Given the description of an element on the screen output the (x, y) to click on. 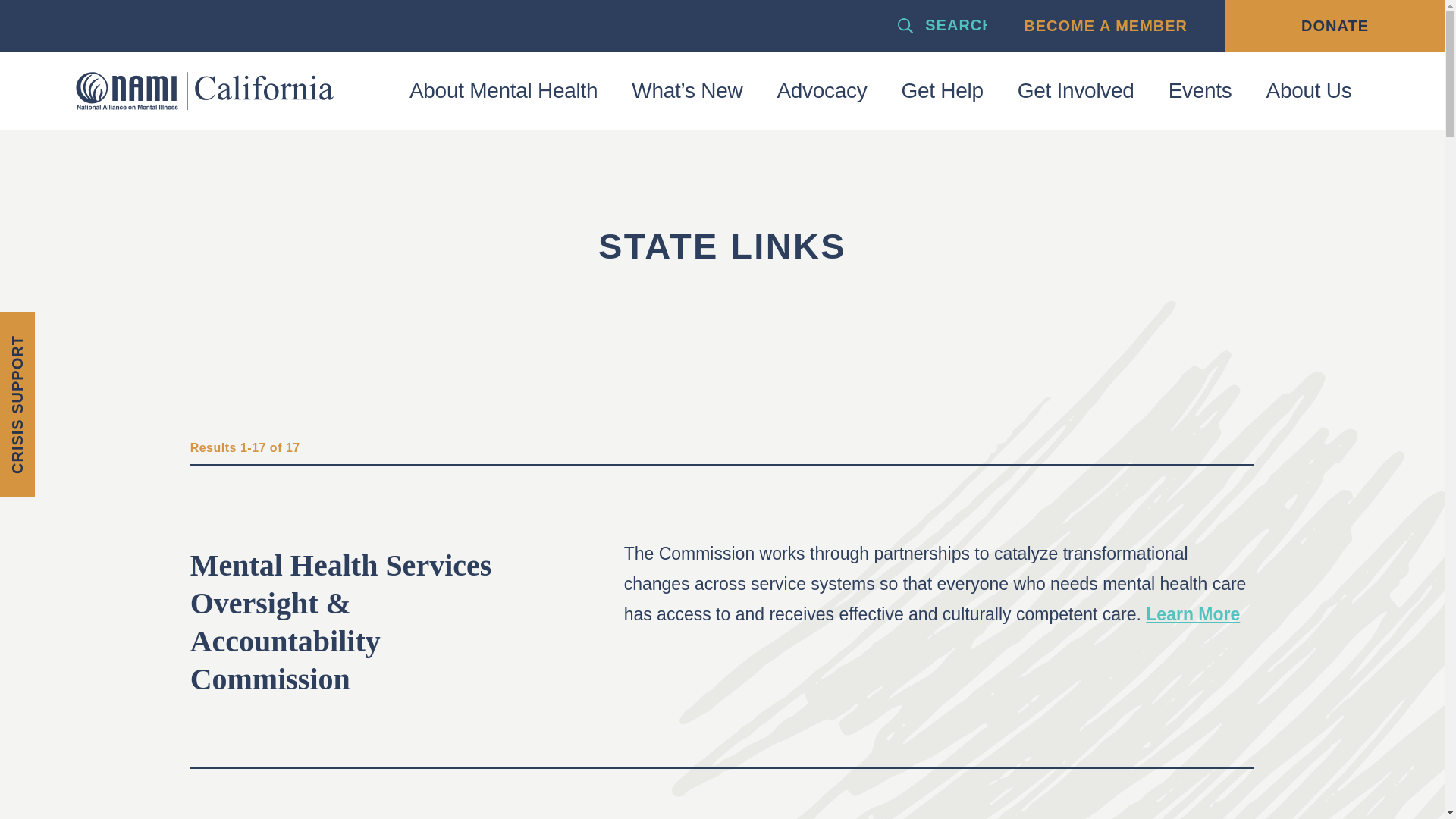
About Us (1308, 90)
Get Help (941, 90)
Site Logo (204, 91)
About Mental Health (502, 90)
Advocacy (821, 90)
Get Involved (1075, 90)
BECOME A MEMBER (1113, 25)
Site Logo (204, 90)
Events (1200, 90)
CRISIS SUPPORT (92, 329)
Learn More (1192, 613)
